Given the description of an element on the screen output the (x, y) to click on. 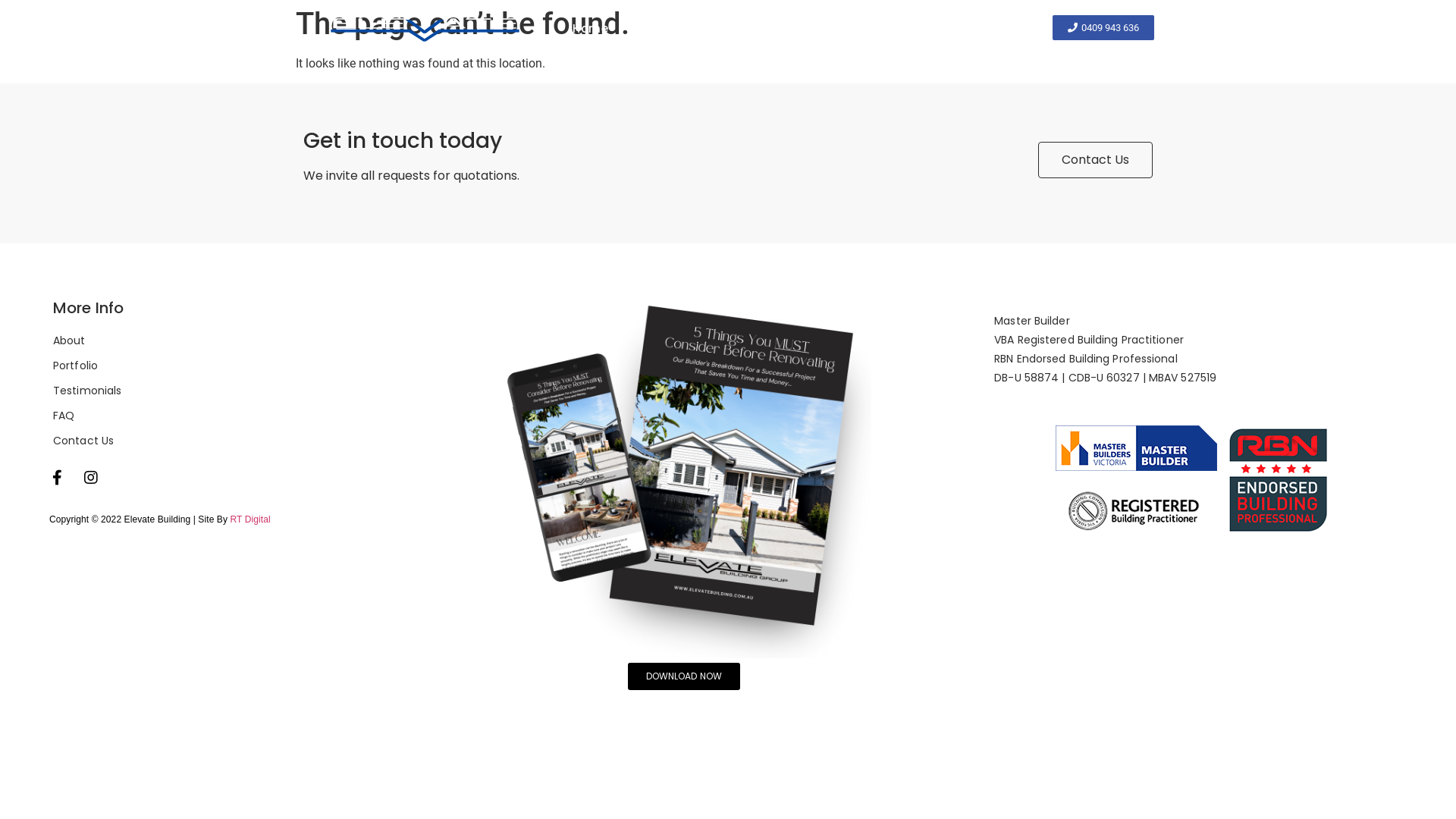
FAQ Element type: text (914, 28)
Portfolio Element type: text (733, 28)
About Element type: text (258, 340)
DOWNLOAD NOW Element type: text (683, 676)
Contact Us Element type: text (258, 440)
Contact Element type: text (983, 28)
About Element type: text (657, 28)
Contact Us Element type: text (1095, 159)
Testimonials Element type: text (831, 28)
Testimonials Element type: text (258, 390)
Portfolio Element type: text (258, 365)
RT Digital Element type: text (250, 519)
FAQ Element type: text (258, 415)
0409 943 636 Element type: text (1103, 27)
Home Element type: text (590, 28)
